Given the description of an element on the screen output the (x, y) to click on. 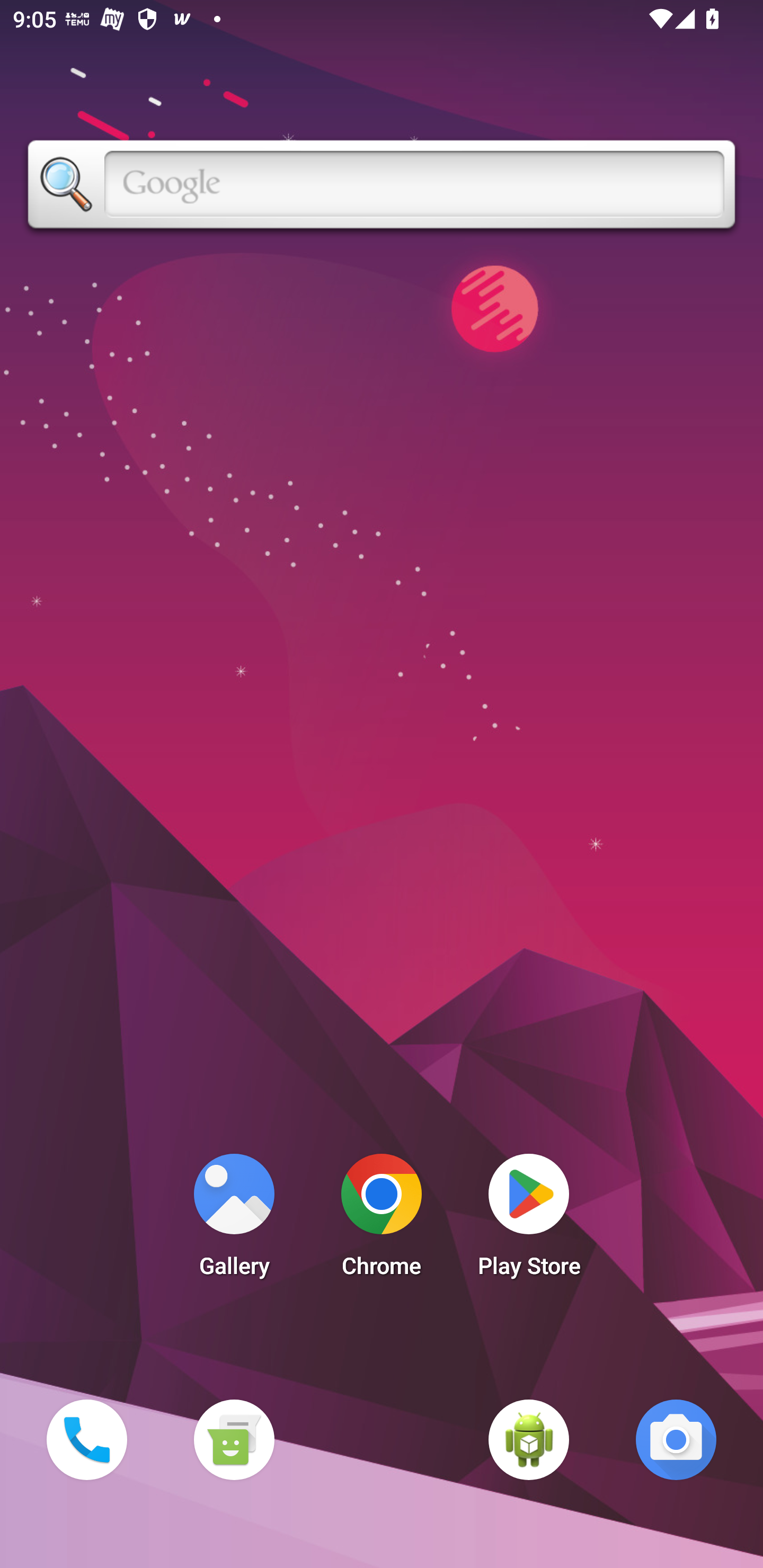
Gallery (233, 1220)
Chrome (381, 1220)
Play Store (528, 1220)
Phone (86, 1439)
Messaging (233, 1439)
WebView Browser Tester (528, 1439)
Camera (676, 1439)
